Given the description of an element on the screen output the (x, y) to click on. 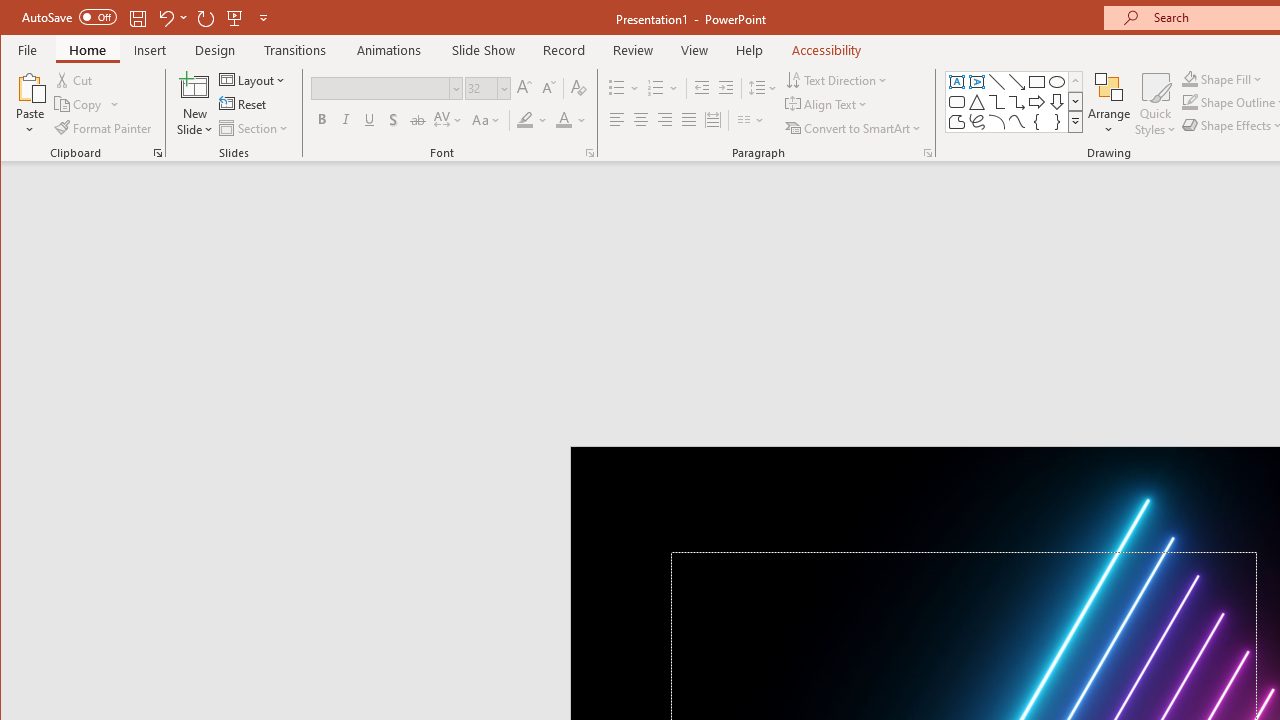
Text Highlight Color Yellow (525, 119)
Line (996, 82)
Curve (1016, 121)
Increase Indent (726, 88)
Shape Outline Blue, Accent 1 (1189, 101)
Arrow: Right (1036, 102)
Layout (253, 80)
Arrange (1108, 104)
